Given the description of an element on the screen output the (x, y) to click on. 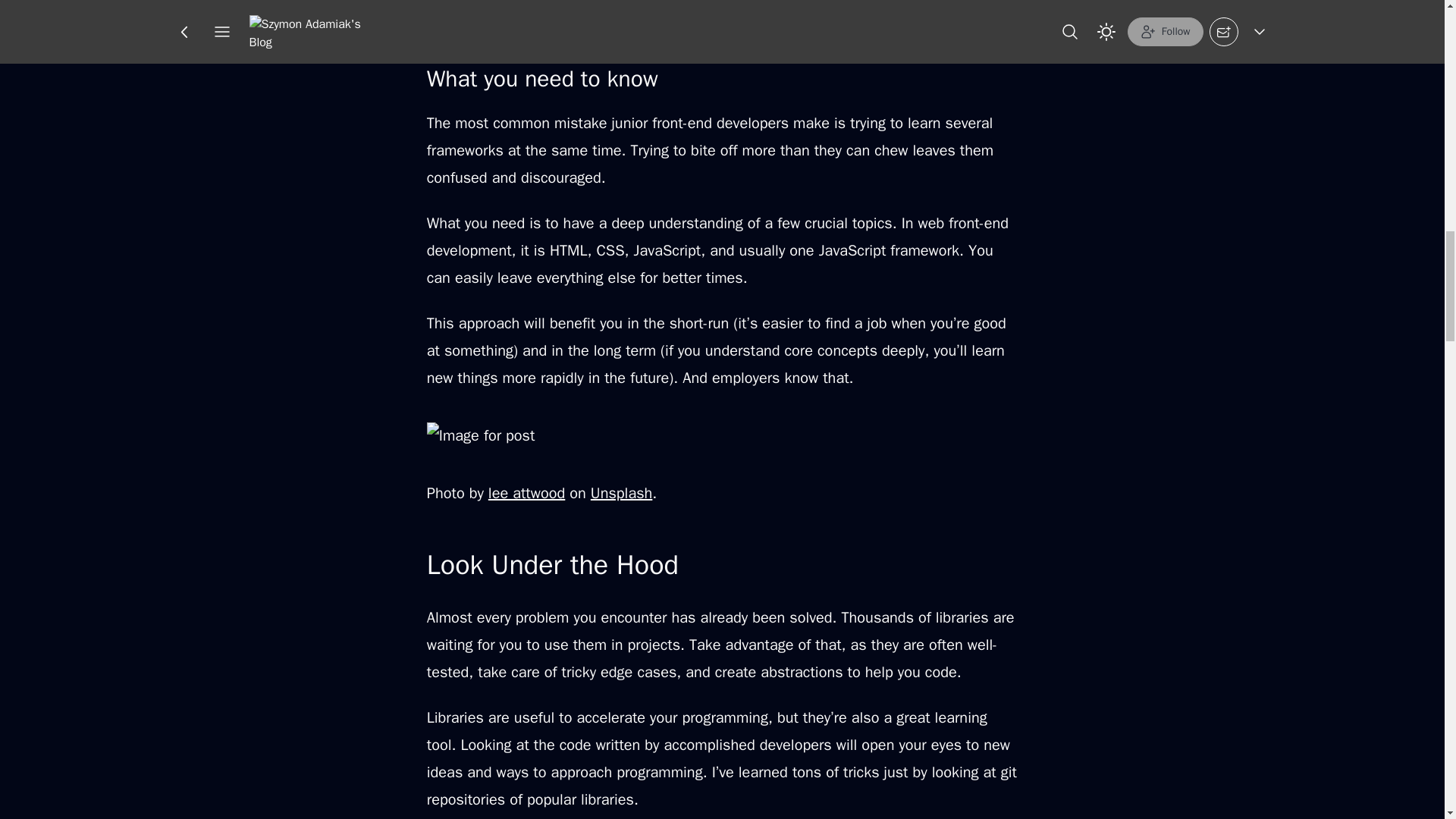
Unsplash (621, 493)
lee attwood (525, 493)
